Given the description of an element on the screen output the (x, y) to click on. 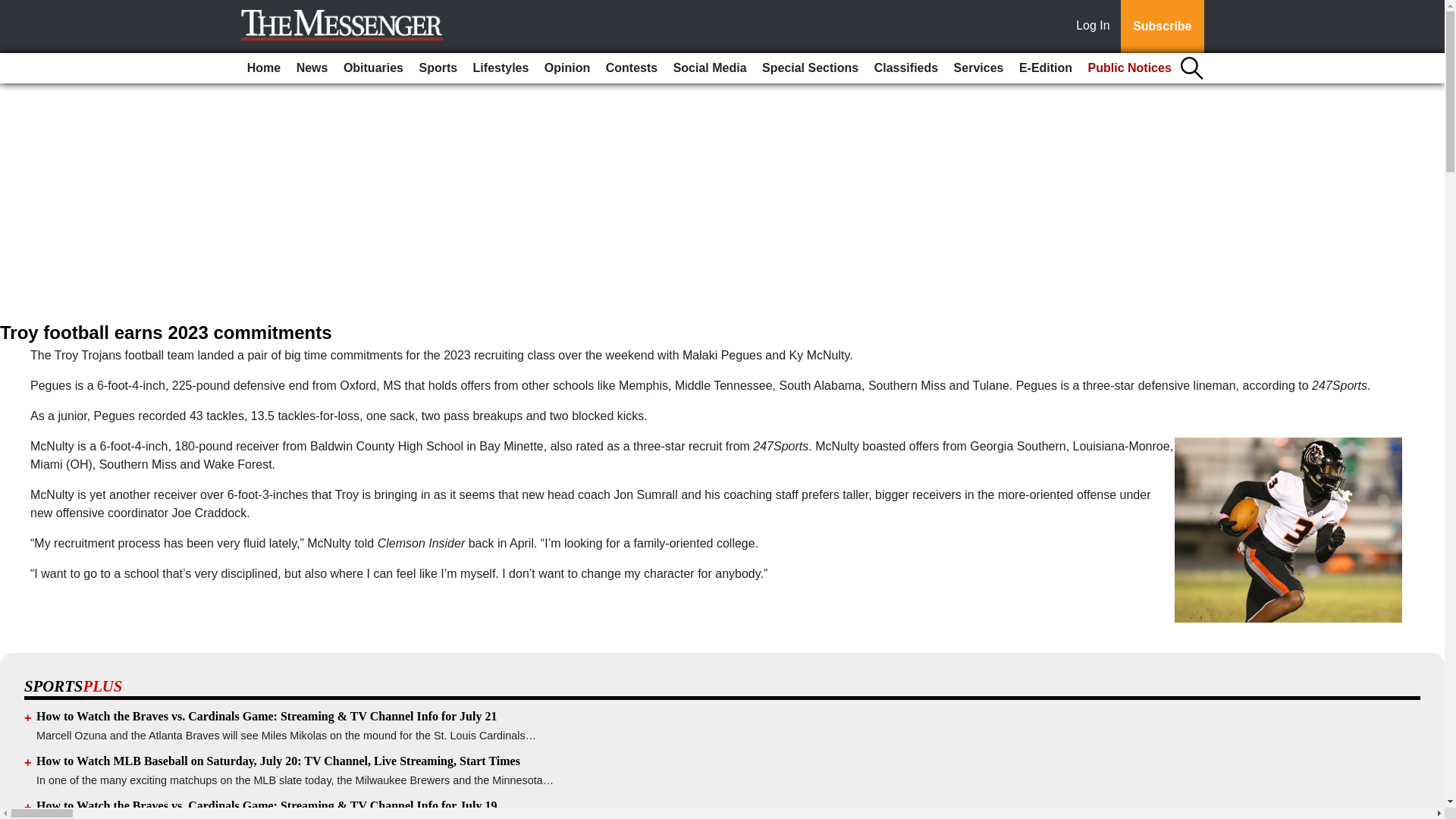
Classifieds (905, 68)
E-Edition (1045, 68)
Services (978, 68)
Log In (1095, 26)
Contests (631, 68)
News (311, 68)
3rd party ad content (721, 212)
Home (263, 68)
Opinion (566, 68)
Obituaries (373, 68)
Subscribe (1162, 26)
Sports (437, 68)
Special Sections (809, 68)
Social Media (709, 68)
